Given the description of an element on the screen output the (x, y) to click on. 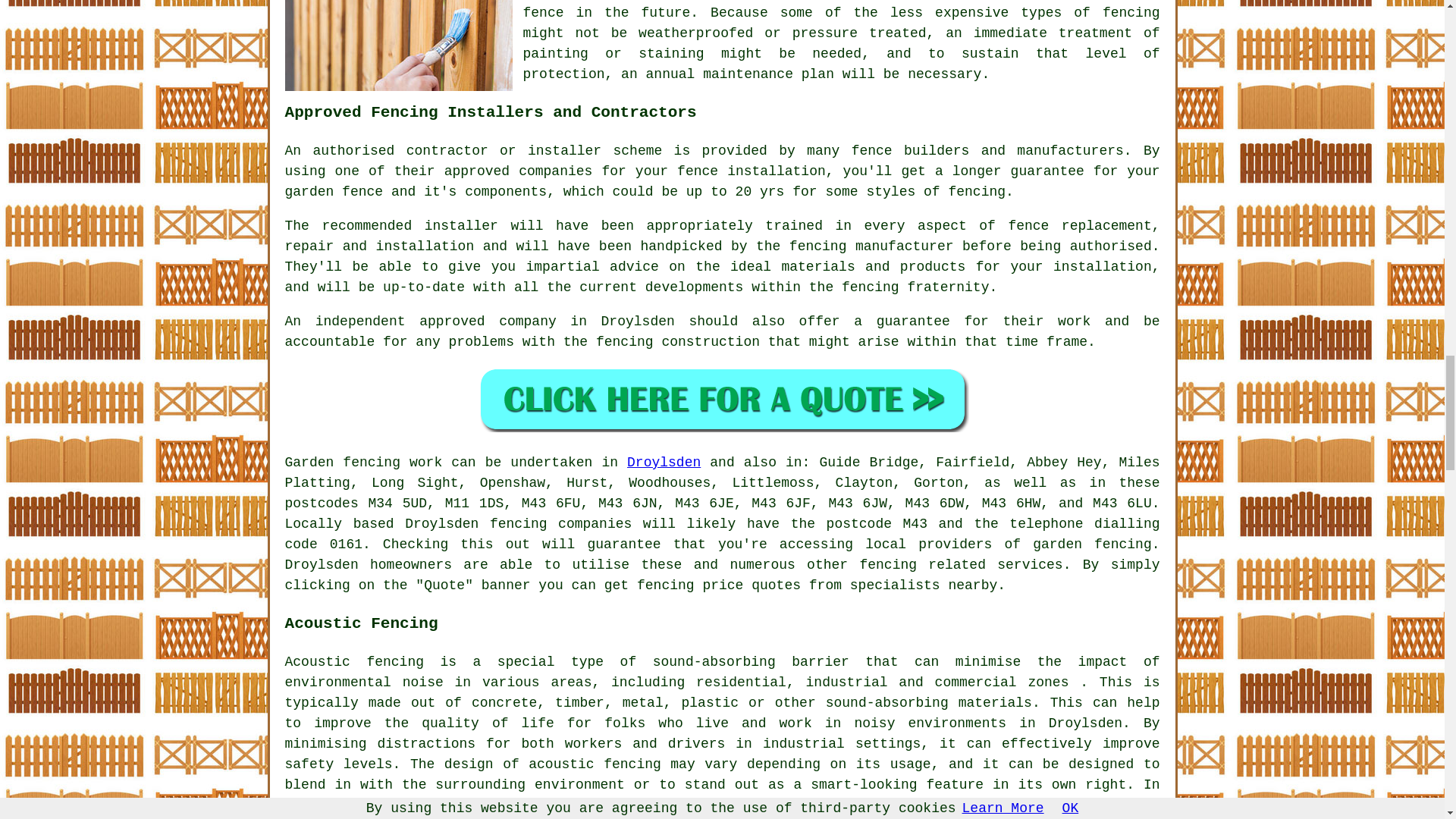
fencing (518, 523)
Garden fencing work (363, 462)
Painting Garden Fencing Droylsden (398, 45)
garden fencing (1091, 544)
Book Garden Fencing in Droylsden UK (722, 399)
